Given the description of an element on the screen output the (x, y) to click on. 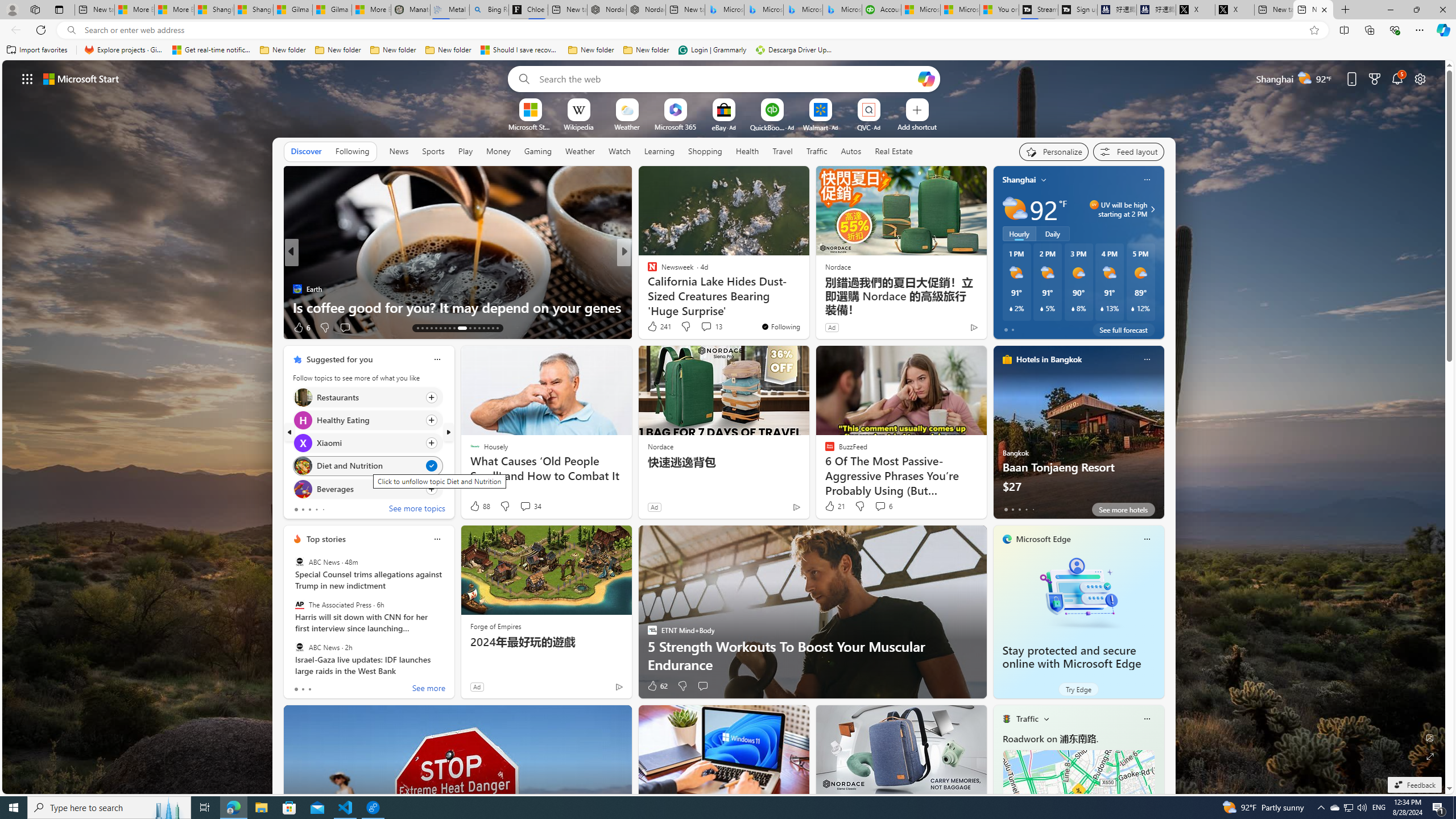
Settings and more (Alt+F) (1419, 29)
Shanghai (1018, 179)
New tab (1313, 9)
See more topics (416, 509)
248 Like (654, 327)
Workspaces (34, 9)
Traffic Title Traffic Light (1005, 718)
62 Like (657, 685)
Feed settings (1128, 151)
See more hotels (1123, 509)
Following (352, 151)
Class: control (27, 78)
